Given the description of an element on the screen output the (x, y) to click on. 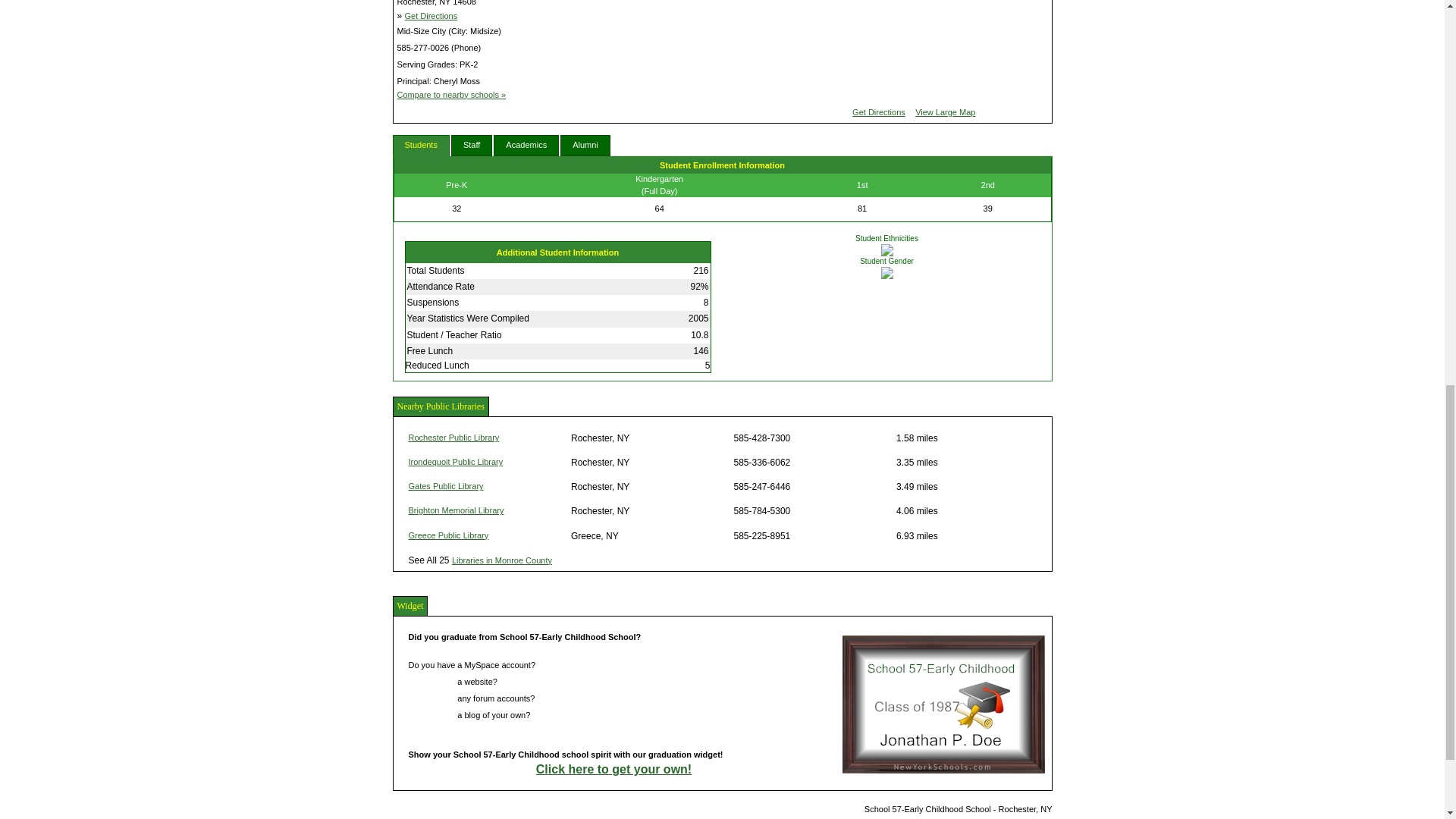
Get Directions (878, 112)
Students (421, 145)
Get Directions (431, 15)
Staff (471, 145)
View Large Map (945, 112)
